Given the description of an element on the screen output the (x, y) to click on. 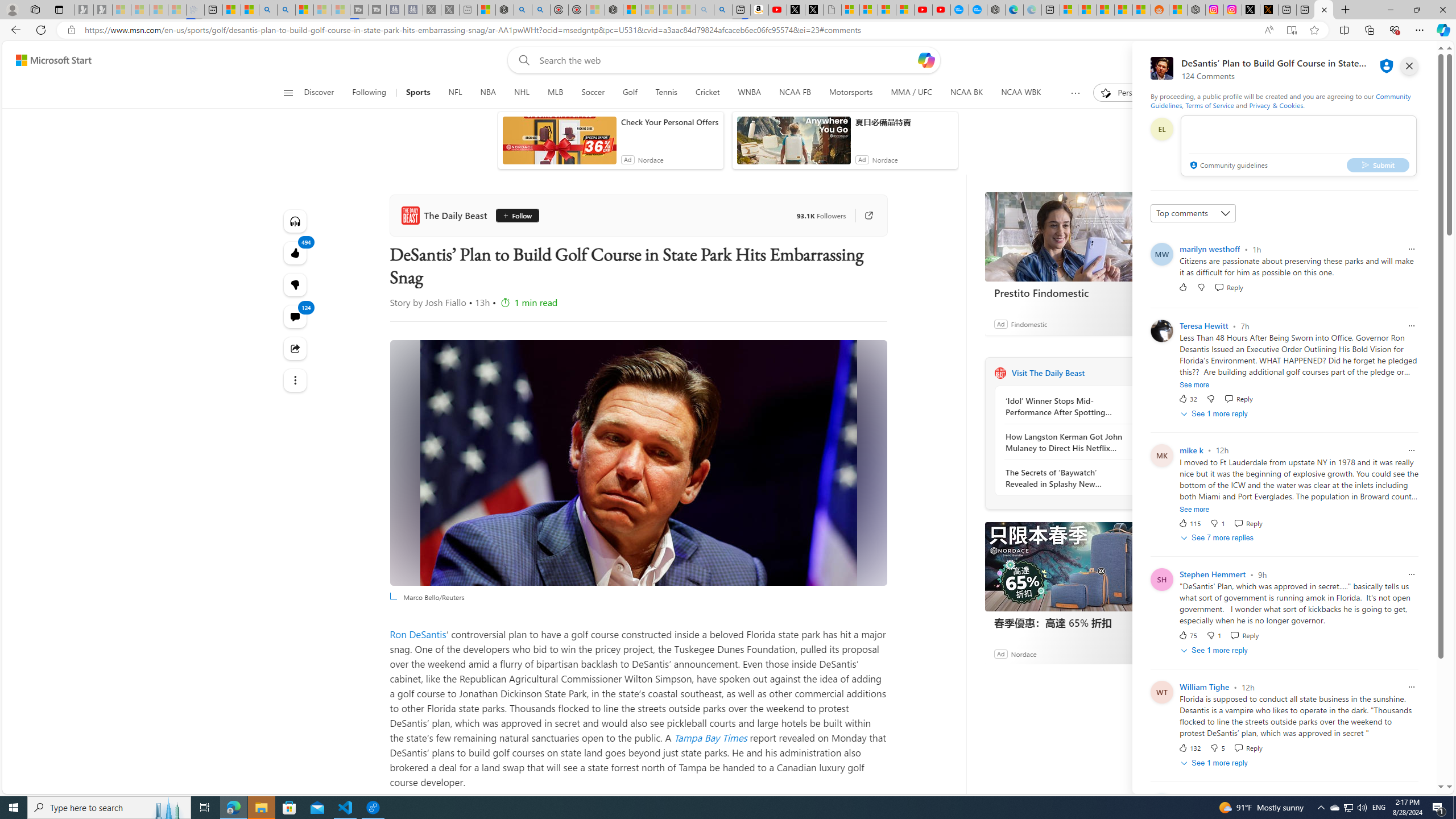
Search (285, 9)
Shanghai, China hourly forecast | Microsoft Weather (1105, 9)
Listen to this article (295, 220)
Listen to this article (295, 221)
poe - Search (523, 9)
Ad (999, 653)
Following (368, 92)
Prestito Findomestic (1070, 236)
Sports (418, 92)
Address and search bar (669, 29)
NCAA BK (965, 92)
YouTube Kids - An App Created for Kids to Explore Content (941, 9)
